Given the description of an element on the screen output the (x, y) to click on. 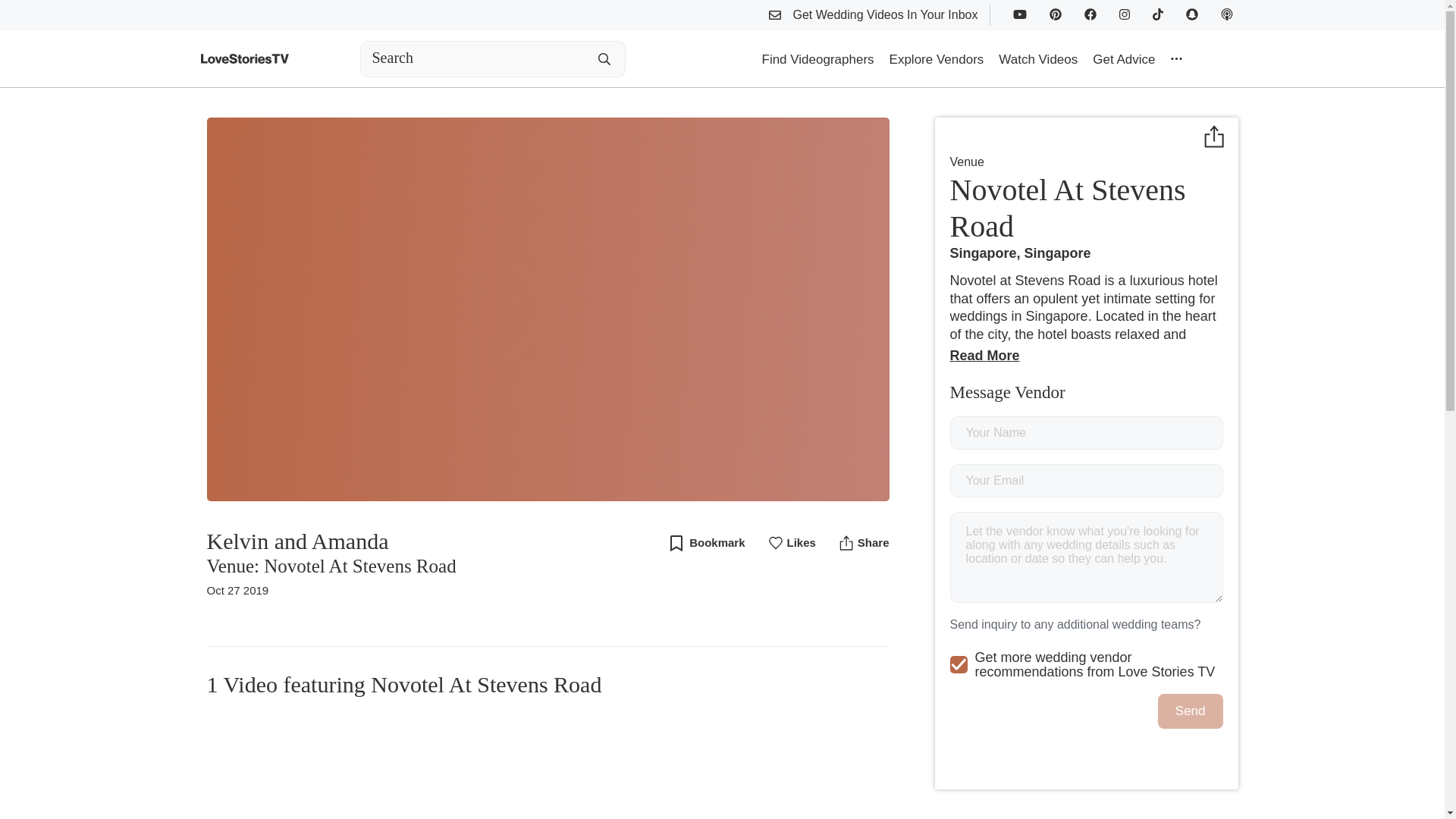
Get Wedding Videos In Your Inbox (879, 16)
Explore Vendors (936, 58)
Get Advice (1122, 58)
Kelvin and Amanda (330, 541)
Watch Videos (1037, 58)
Find Videographers (817, 58)
